Given the description of an element on the screen output the (x, y) to click on. 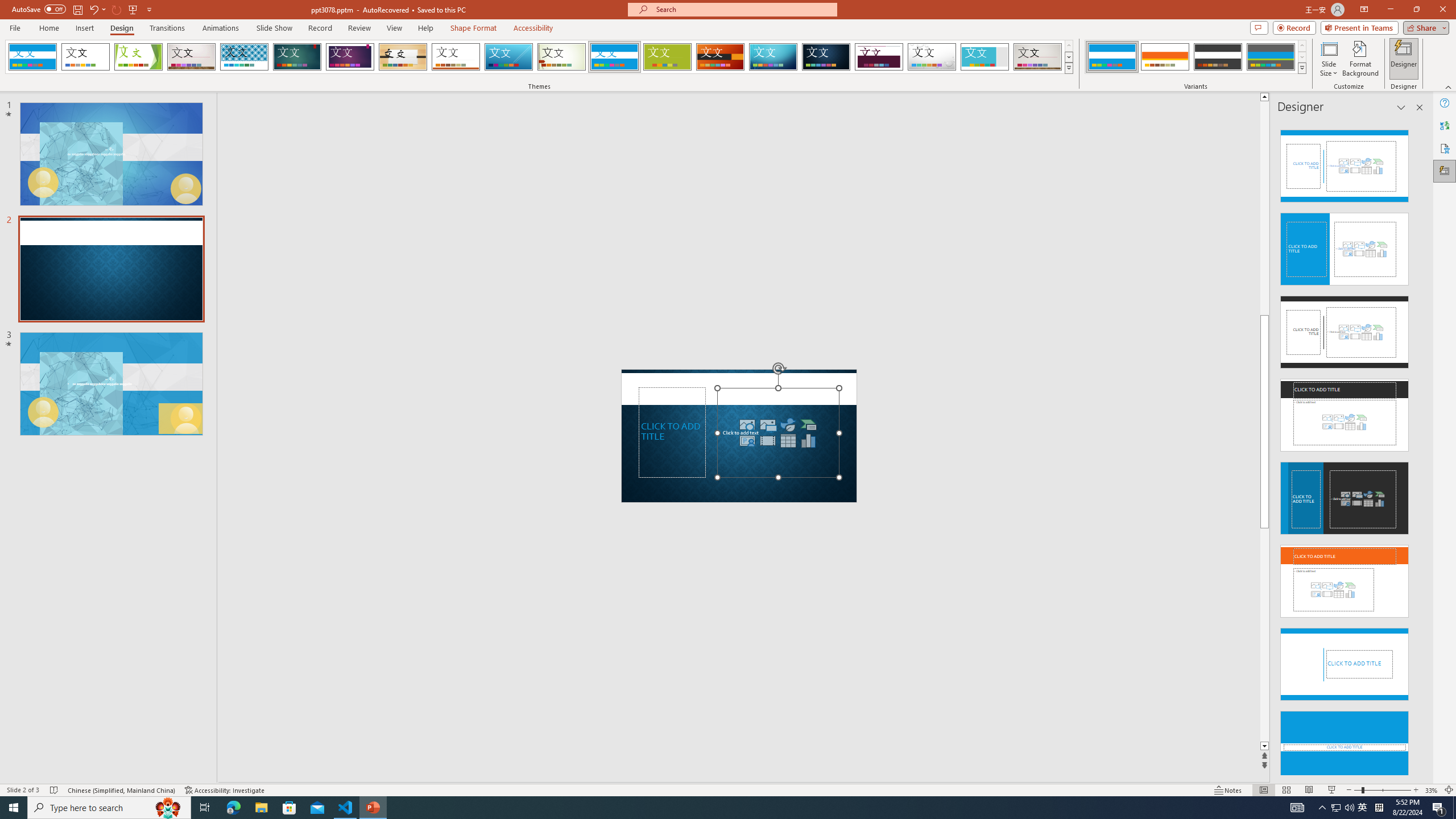
Pictures (767, 424)
Banded Variant 1 (1112, 56)
Office Theme (85, 56)
Banded Variant 3 (1217, 56)
Title TextBox (672, 432)
Dividend (879, 56)
Frame (984, 56)
Insert Chart (808, 440)
